Given the description of an element on the screen output the (x, y) to click on. 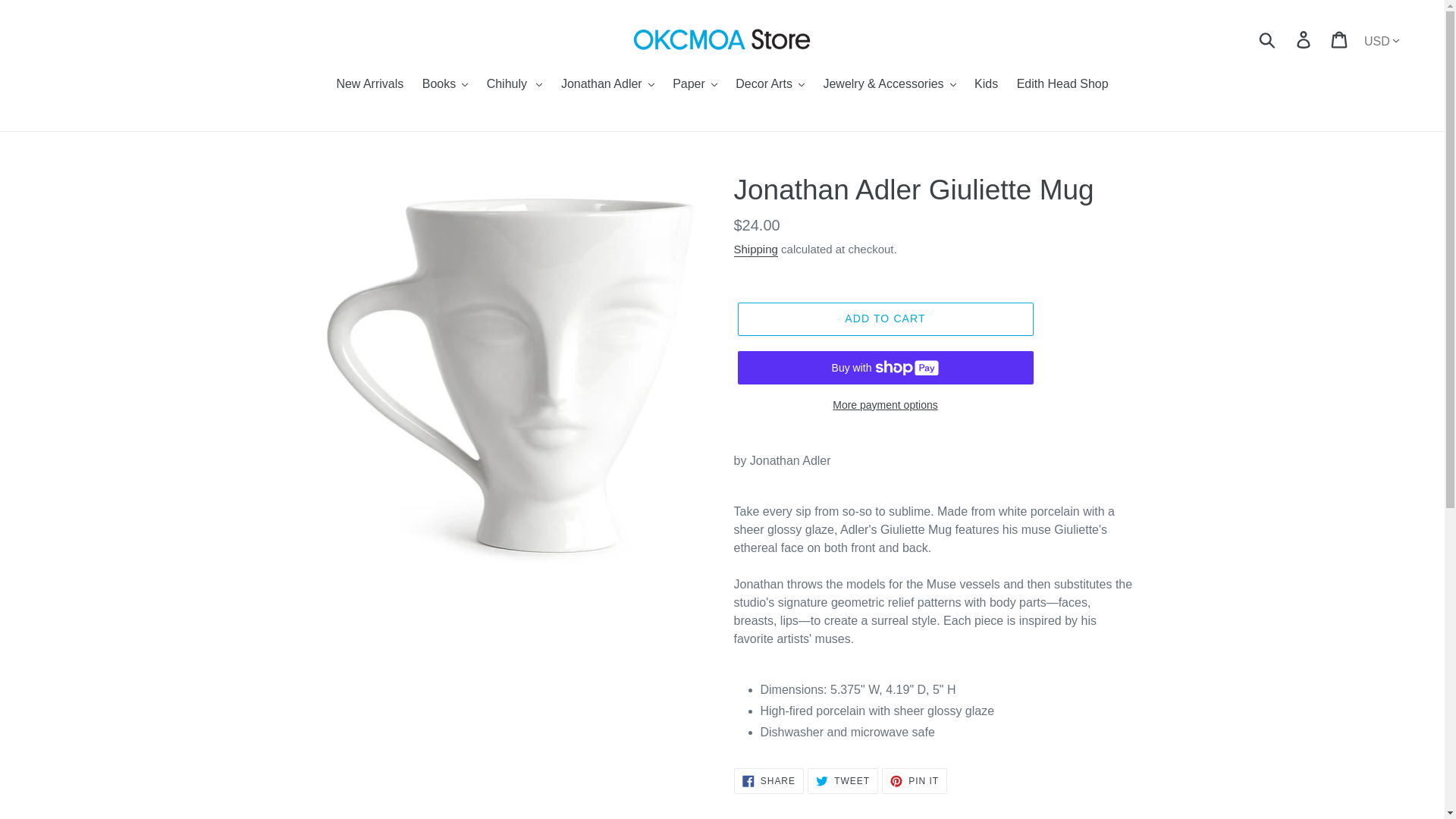
Log in (1304, 39)
Submit (1268, 39)
Cart (1340, 39)
